Given the description of an element on the screen output the (x, y) to click on. 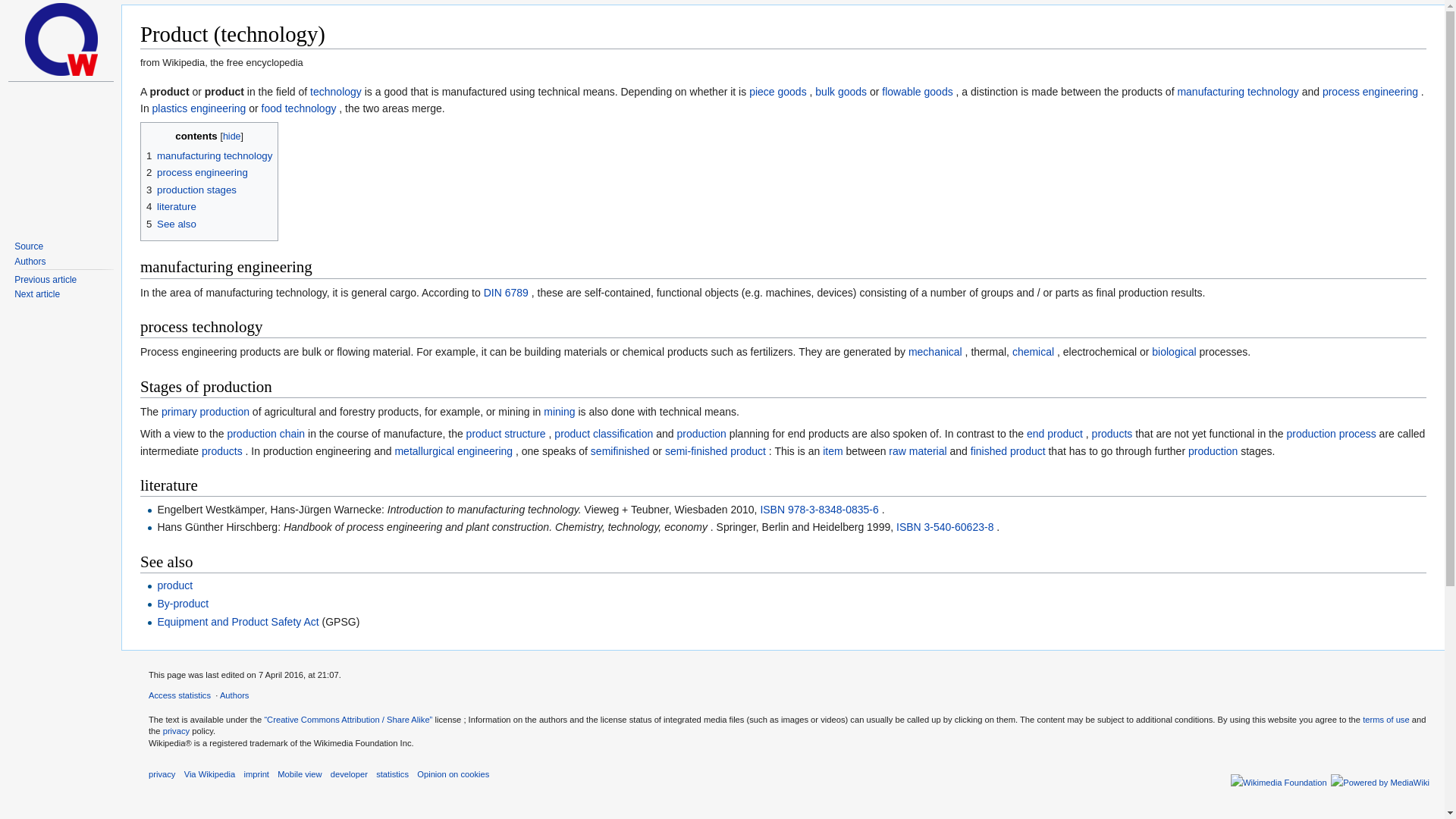
production process (1330, 433)
products (1112, 433)
end product (1054, 433)
Product structure (505, 433)
process engineering (1370, 91)
mechanical (935, 351)
piece goods (777, 91)
metallurgical engineering (453, 451)
Next article (36, 294)
goods (938, 91)
